Given the description of an element on the screen output the (x, y) to click on. 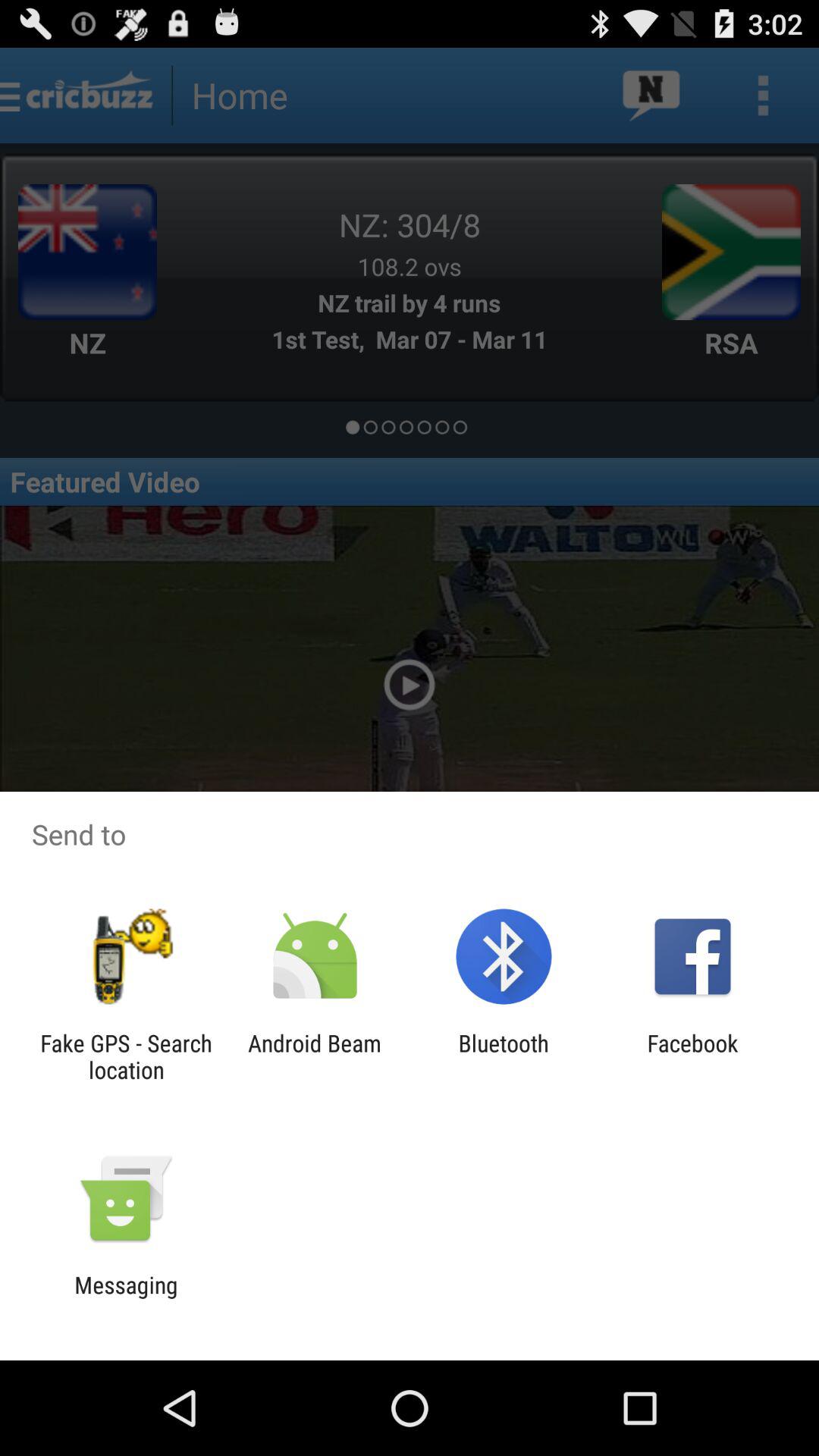
jump to bluetooth item (503, 1056)
